Given the description of an element on the screen output the (x, y) to click on. 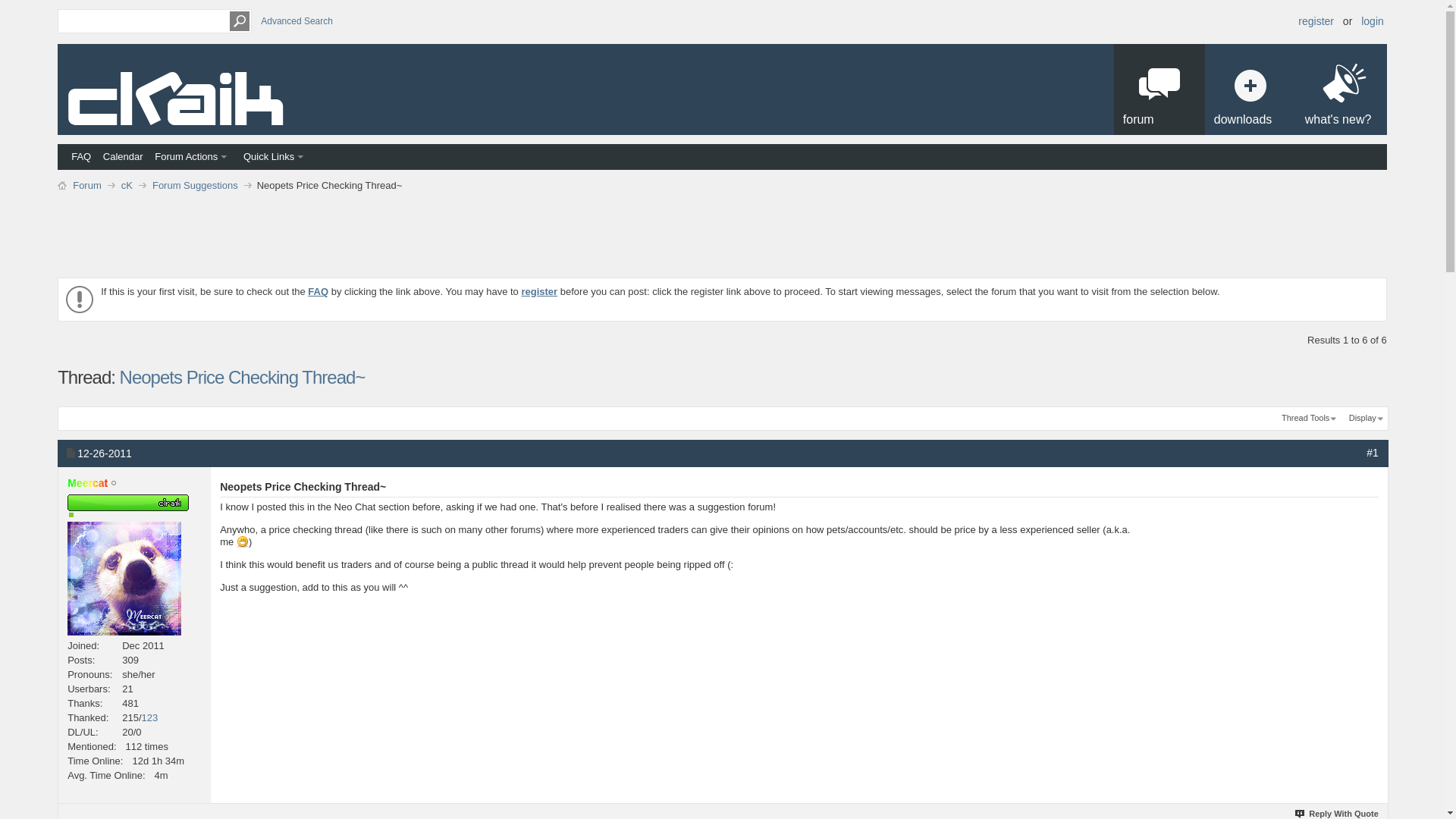
Uploads (89, 731)
Forum Suggestions (194, 185)
Home (62, 184)
cK (126, 185)
Advertisement (721, 228)
Meercat will become famous soon enough (133, 514)
Meercat is offline (86, 482)
Reload this Page (242, 376)
Meercat is offline (113, 483)
FAQ (318, 291)
register (539, 291)
FAQ (80, 156)
Forum (86, 185)
Meercat (86, 482)
